Given the description of an element on the screen output the (x, y) to click on. 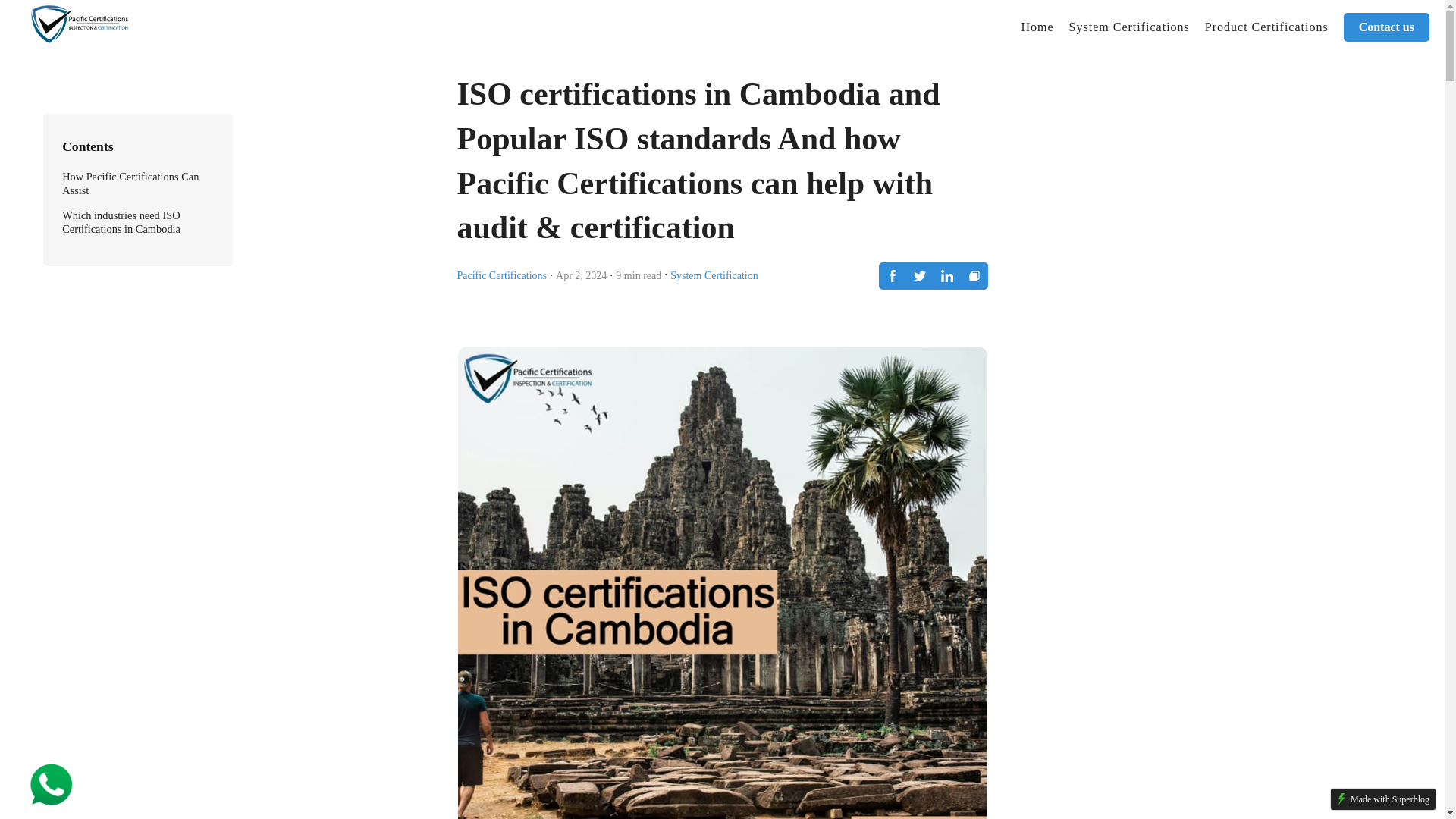
Pacific Certifications (502, 274)
Contact us (1386, 26)
How Pacific Certifications Can Assist (130, 183)
Home (1037, 26)
Contact us (1386, 26)
System Certifications (1128, 26)
Which industries need ISO Certifications in Cambodia (121, 222)
System Certification (713, 274)
Product Certifications (1266, 26)
